Given the description of an element on the screen output the (x, y) to click on. 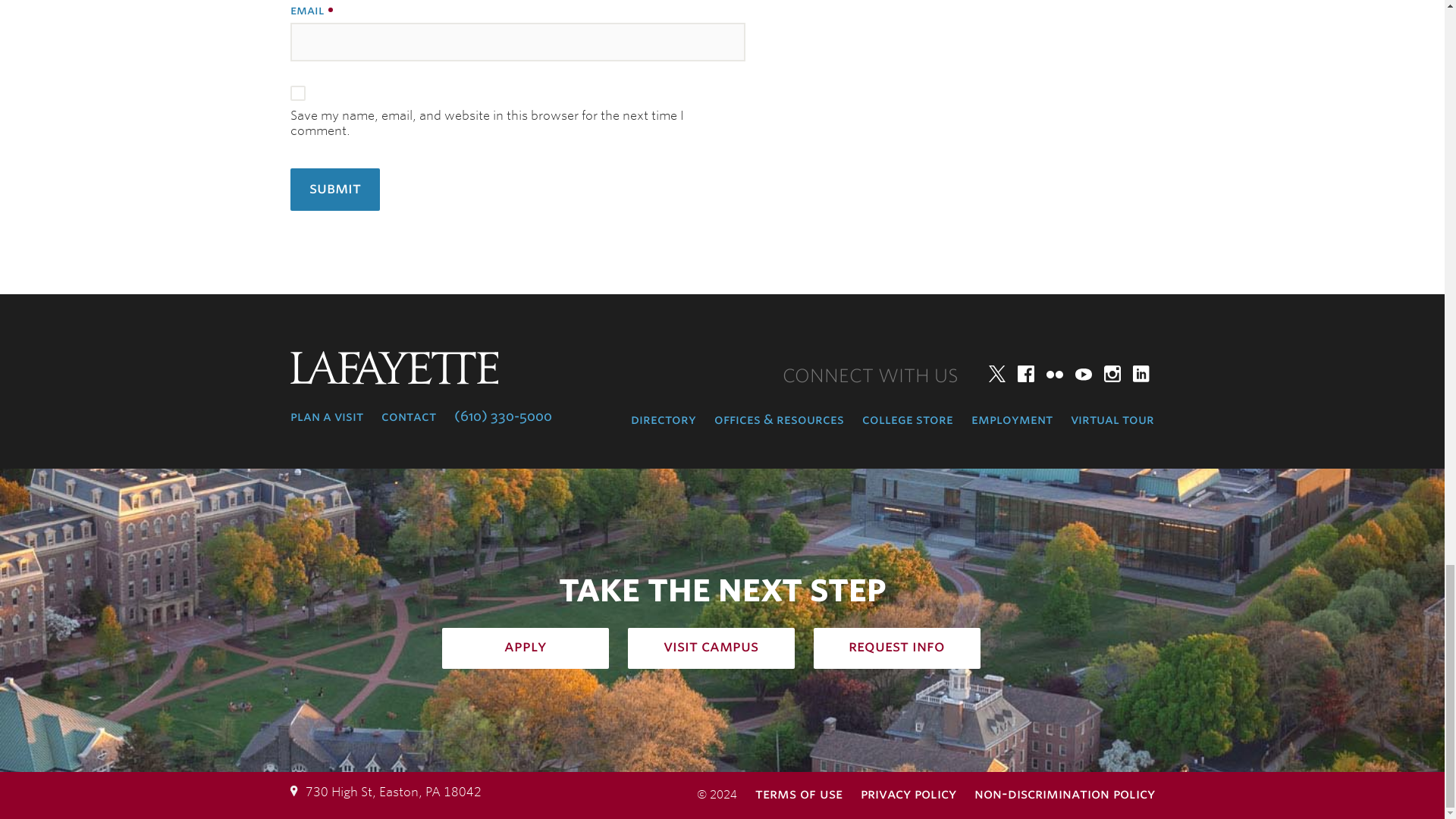
submit (333, 189)
